Given the description of an element on the screen output the (x, y) to click on. 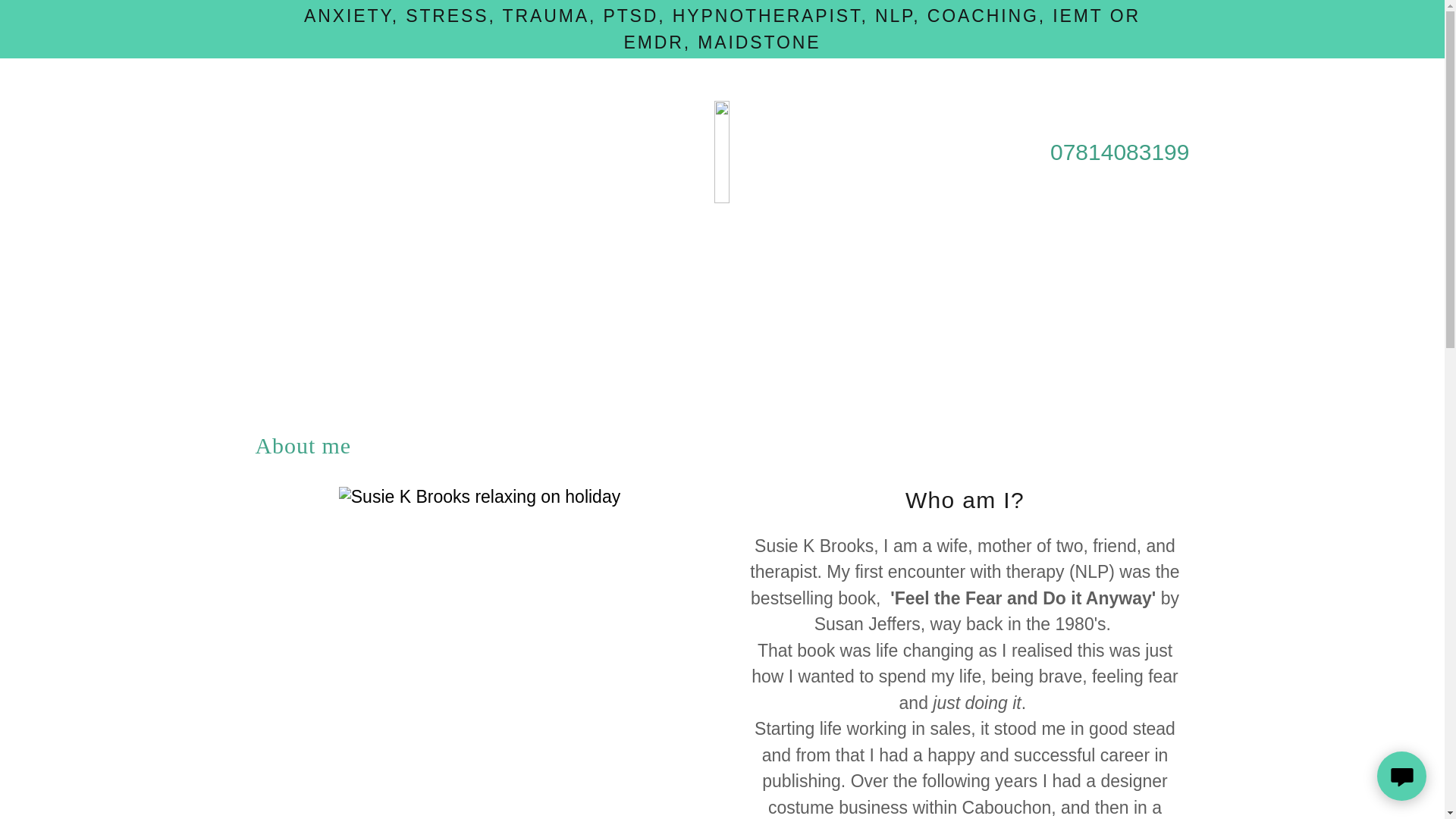
07814083199 (1119, 151)
